Given the description of an element on the screen output the (x, y) to click on. 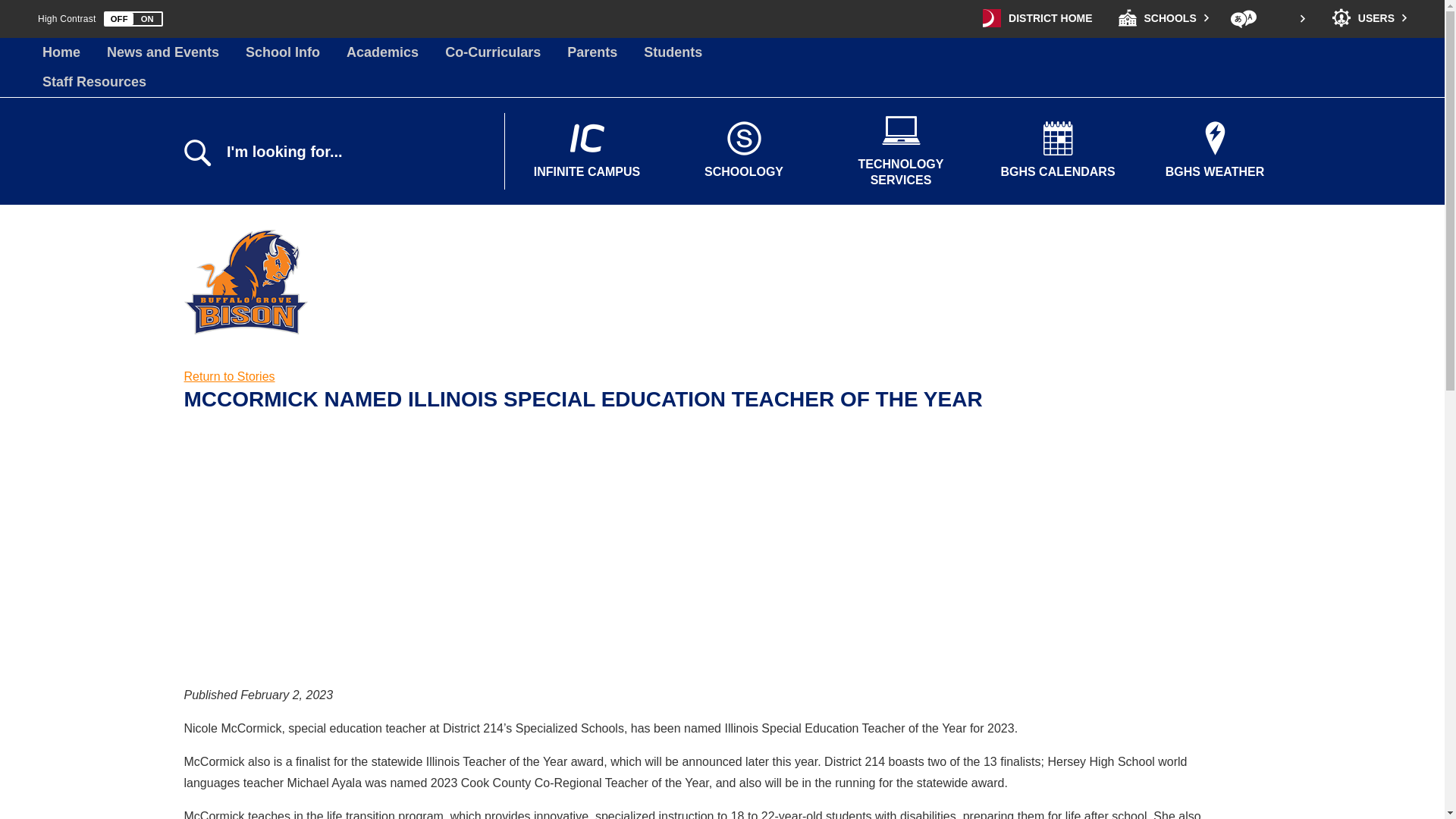
School Info (282, 52)
DISTRICT HOME (1037, 18)
YouTube video player (395, 553)
USERS (1370, 18)
SCHOOLS (1164, 18)
Home (60, 52)
News and Events (163, 52)
